Given the description of an element on the screen output the (x, y) to click on. 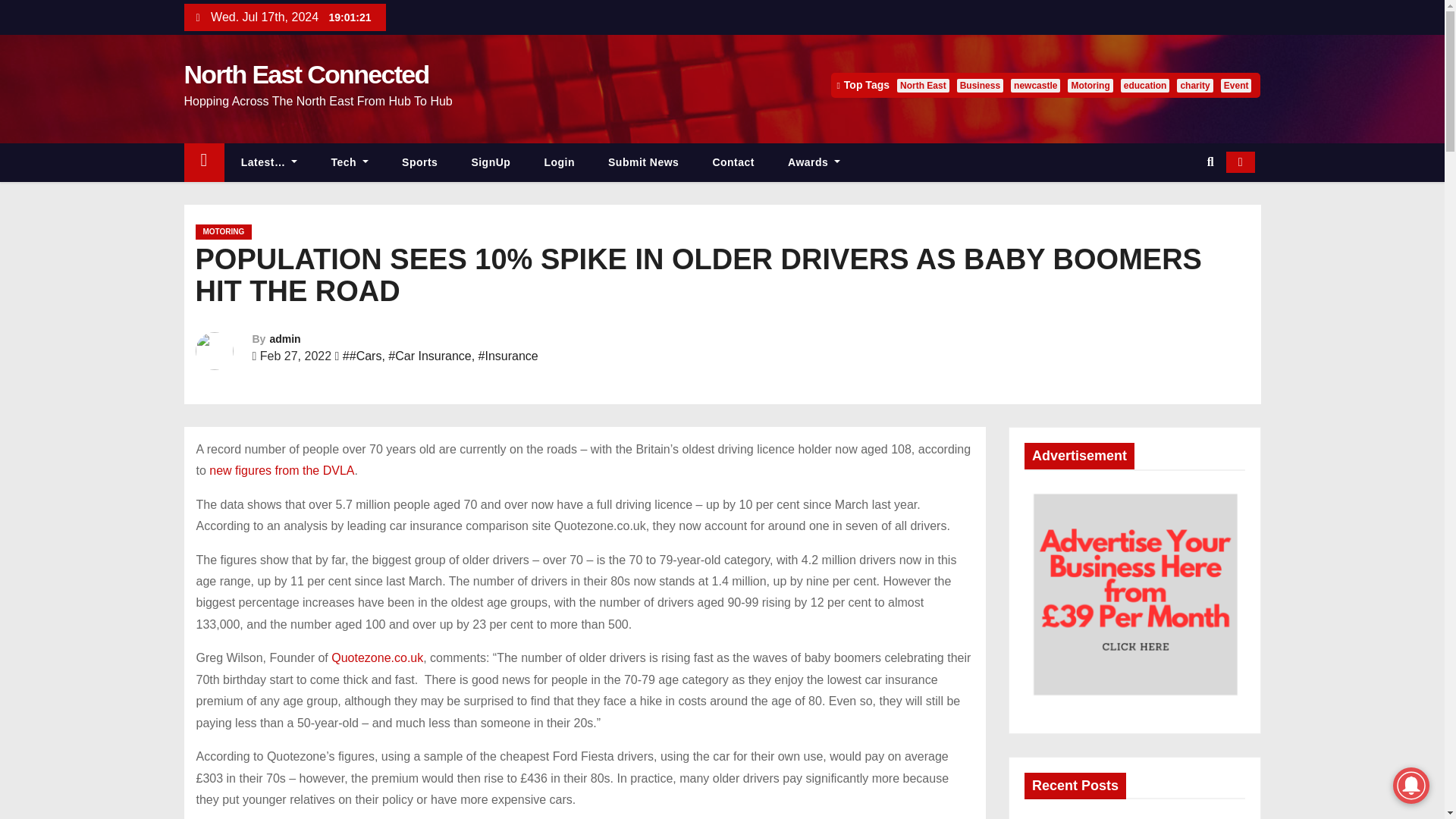
Motoring (1089, 85)
Business (979, 85)
newcastle (1034, 85)
Tech (349, 162)
Submit News (643, 162)
Contact (733, 162)
Submit News (643, 162)
Login (559, 162)
Login (559, 162)
SignUp (490, 162)
Contact (733, 162)
SignUp (490, 162)
admin (284, 338)
North East Connected (305, 73)
North East (922, 85)
